Given the description of an element on the screen output the (x, y) to click on. 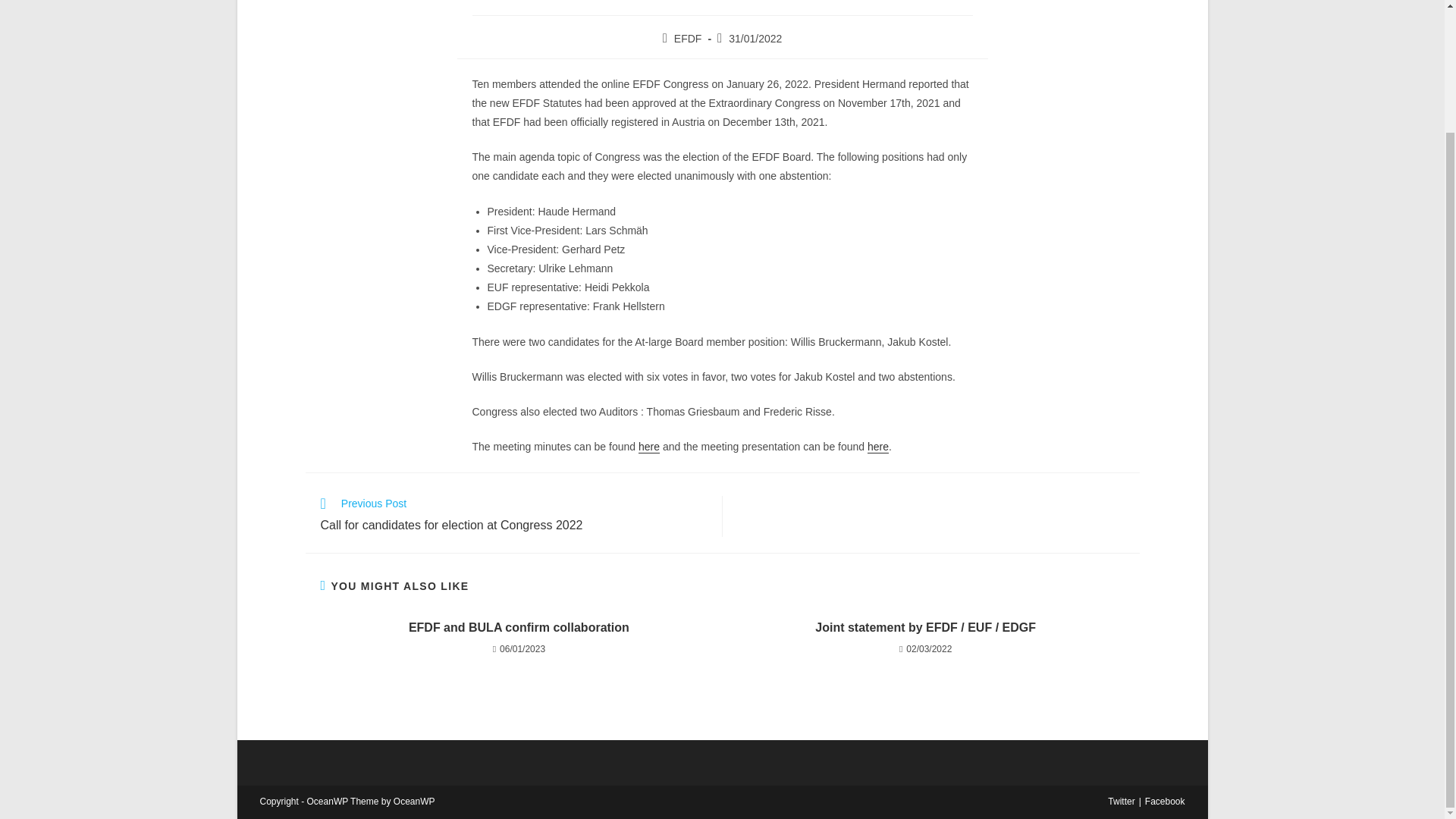
Posts by EFDF (687, 38)
EFDF (687, 38)
here (649, 446)
here (877, 446)
